Given the description of an element on the screen output the (x, y) to click on. 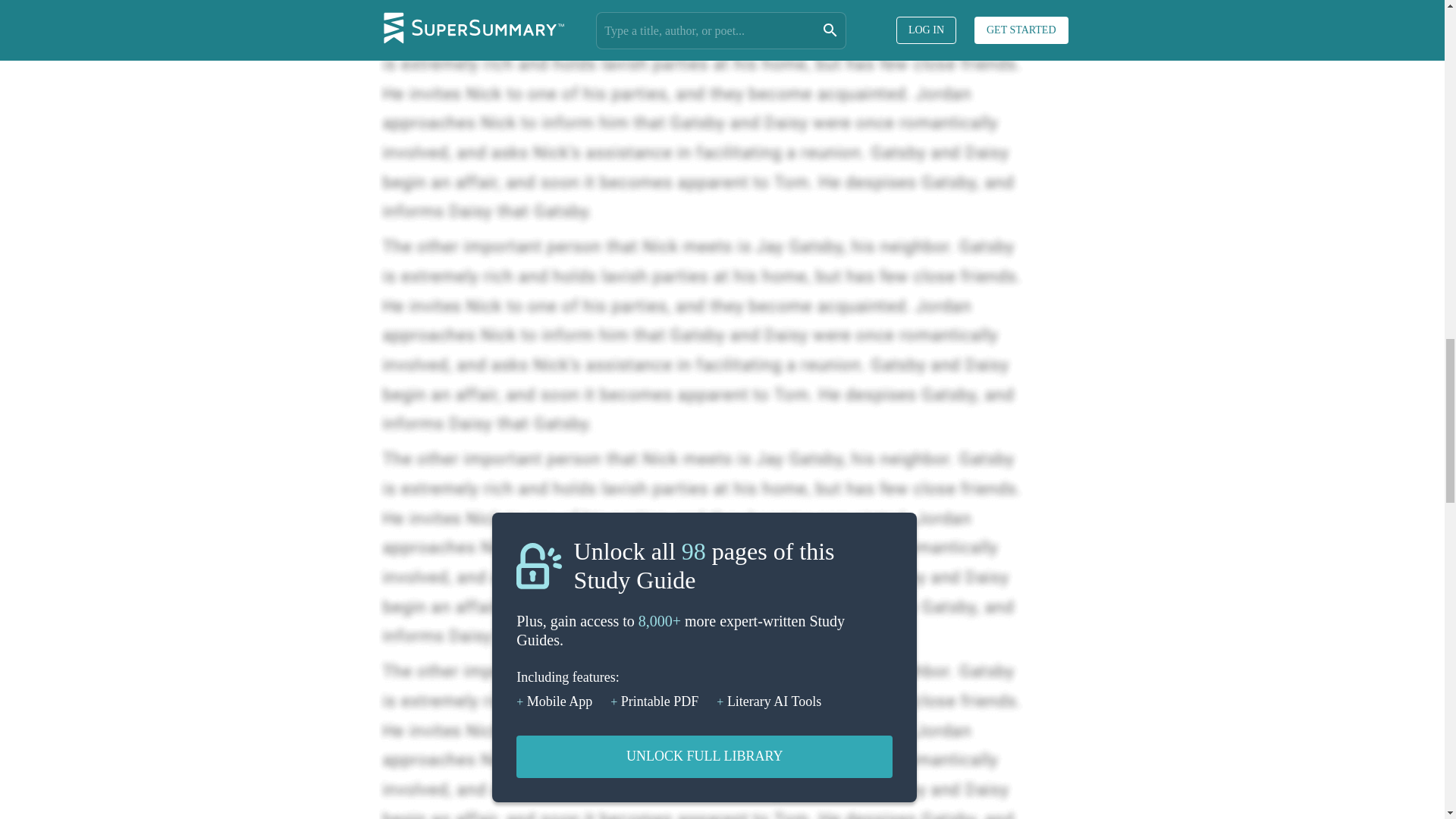
UNLOCK FULL LIBRARY (704, 756)
